Given the description of an element on the screen output the (x, y) to click on. 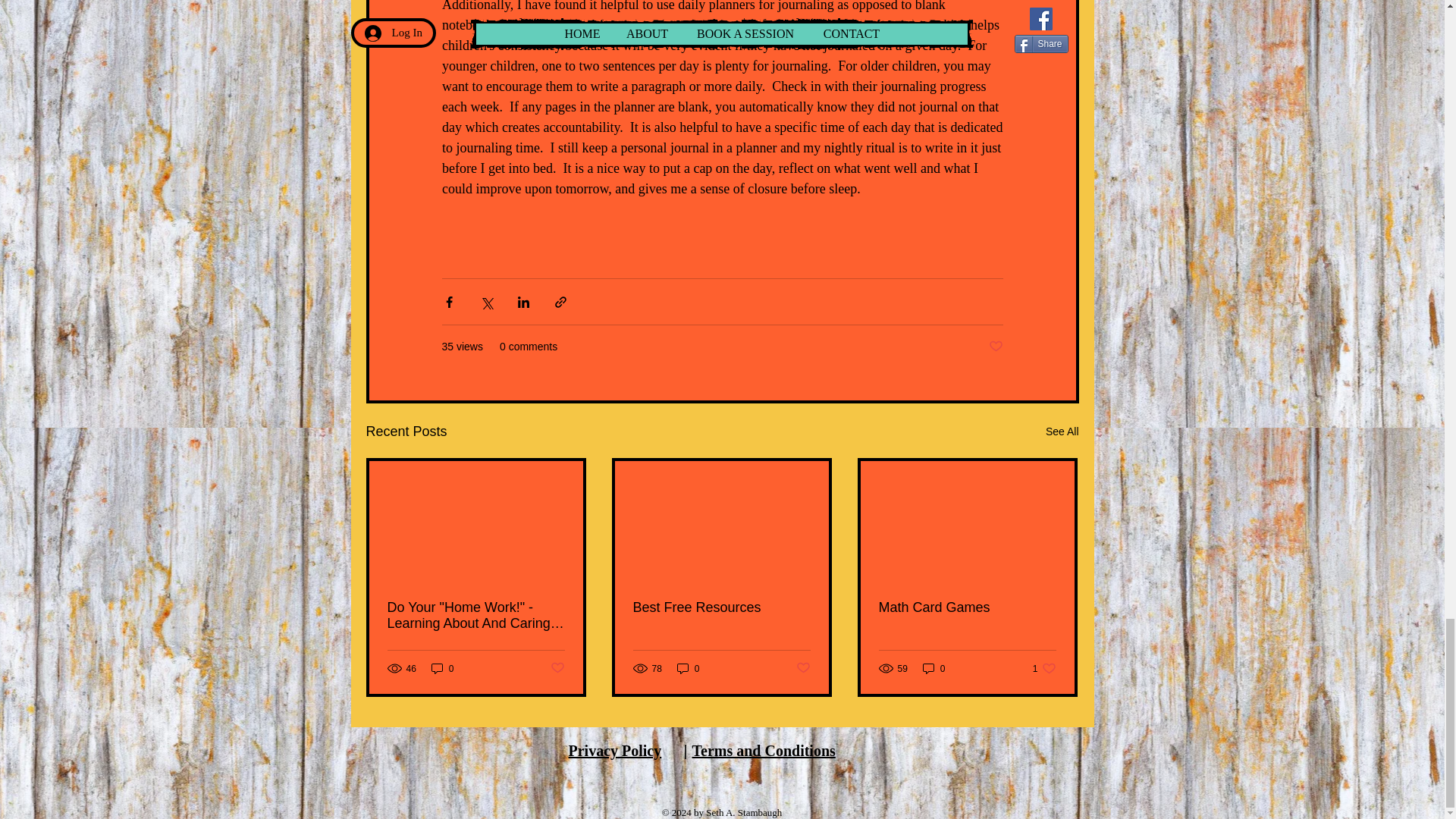
0 (442, 667)
0 (688, 667)
0 (934, 667)
Terms and Conditions (762, 750)
Post not marked as liked (995, 346)
Math Card Games (966, 607)
Best Free Resources (1044, 667)
Privacy Policy (720, 607)
Do Your "Home Work!" - Learning About And Caring for Nature (615, 750)
Post not marked as liked (475, 615)
Post not marked as liked (557, 668)
See All (803, 668)
